Given the description of an element on the screen output the (x, y) to click on. 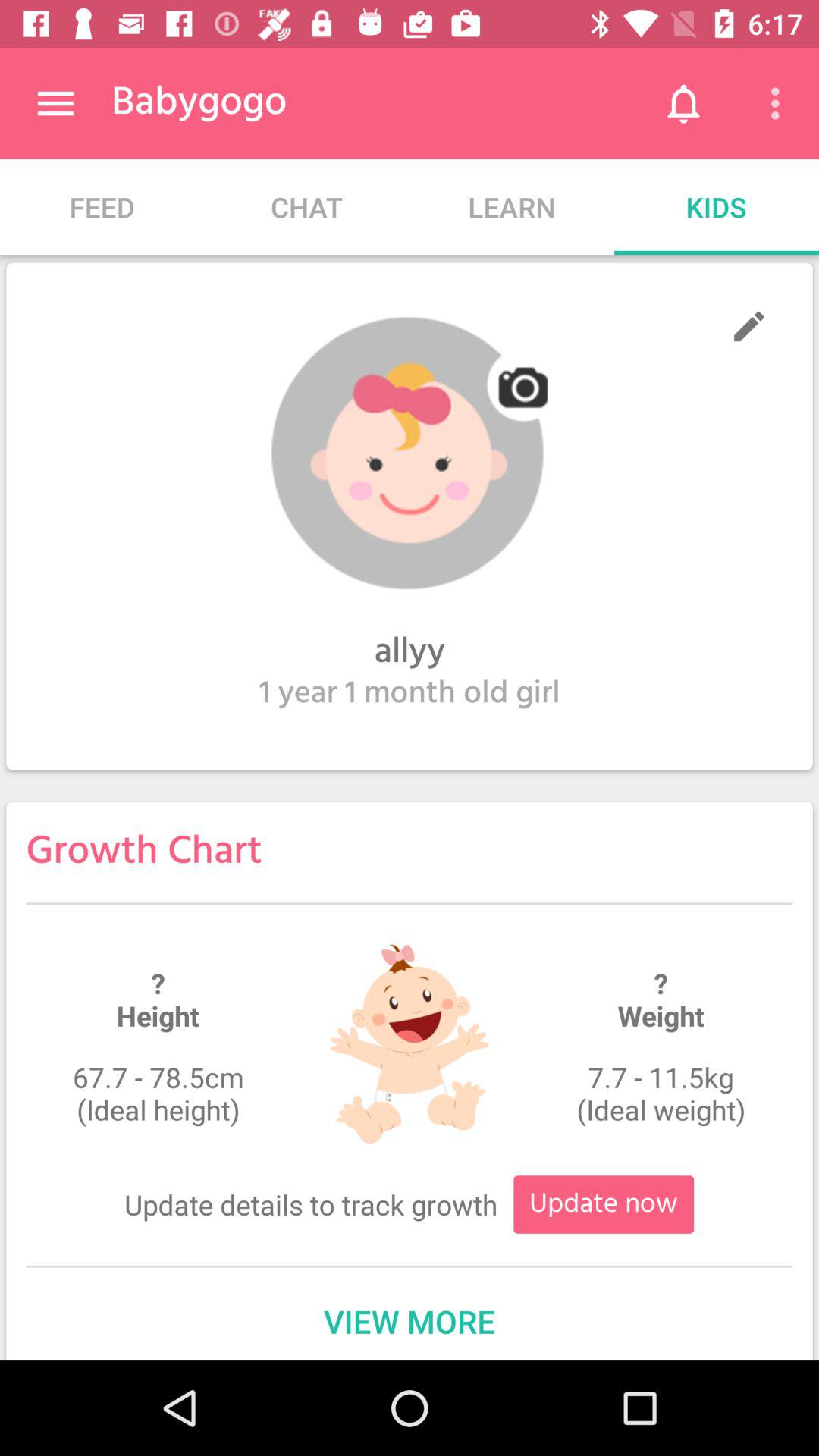
edit profile photo (409, 453)
